Given the description of an element on the screen output the (x, y) to click on. 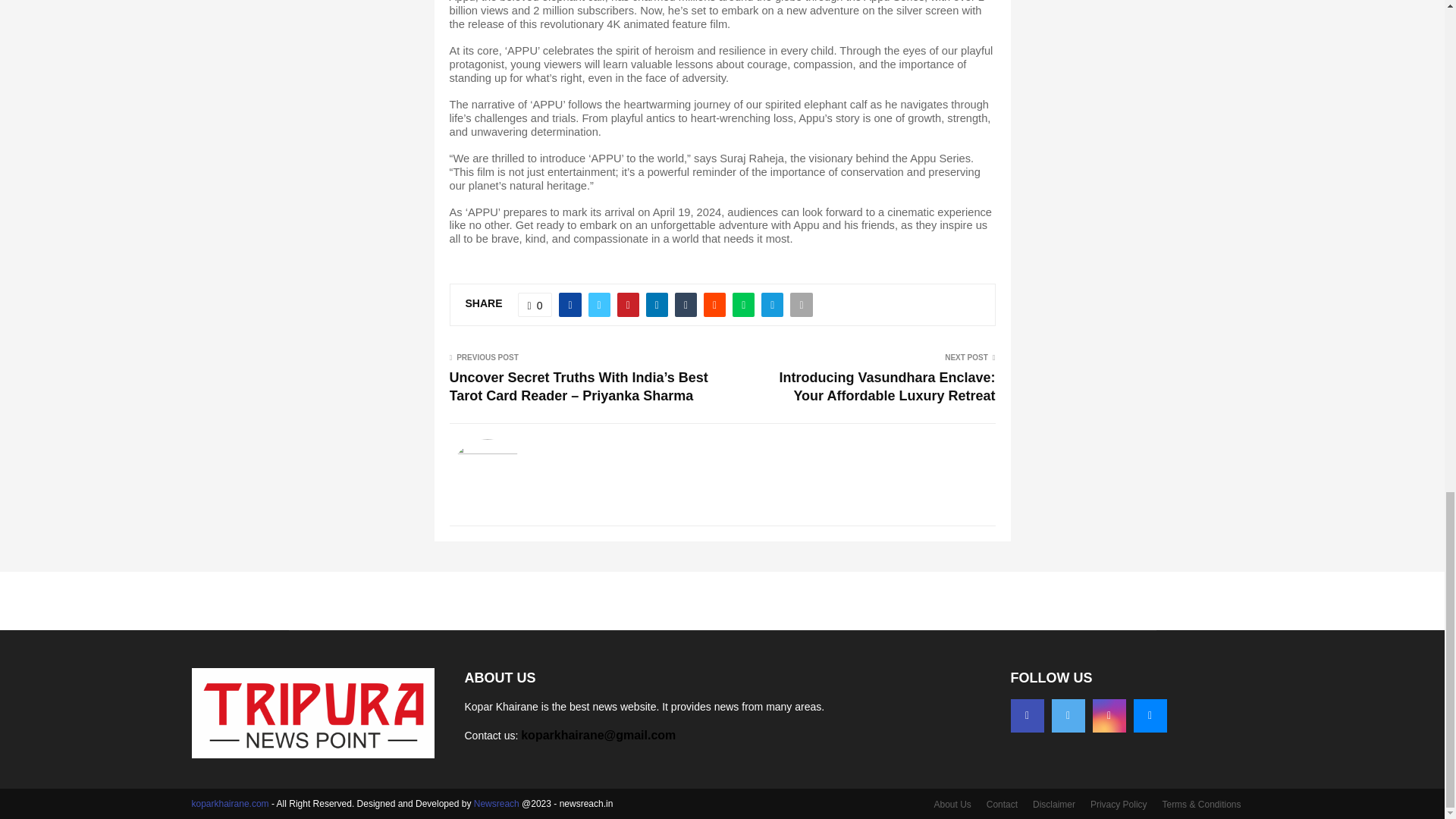
0 (535, 304)
Like (535, 304)
